Given the description of an element on the screen output the (x, y) to click on. 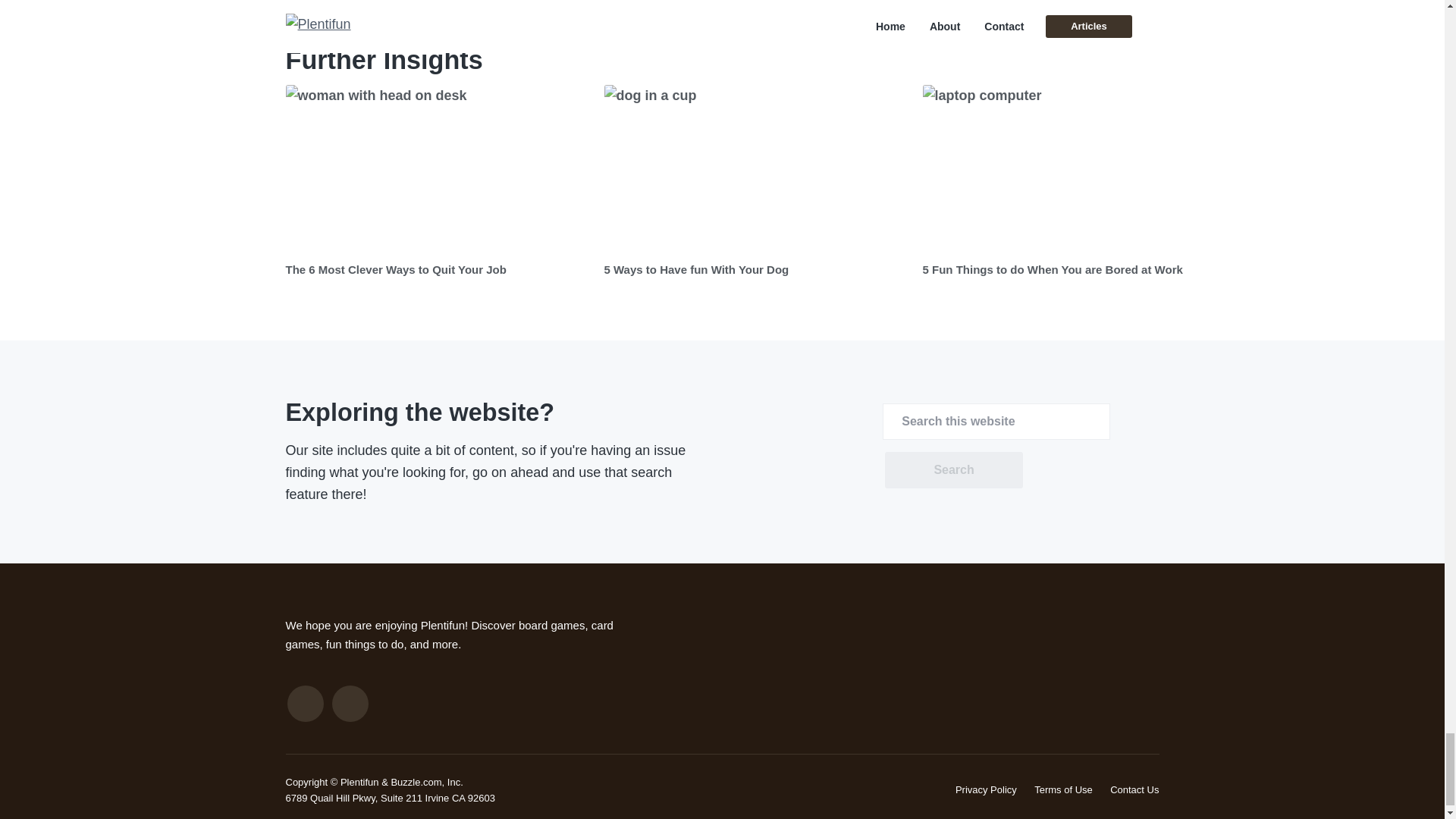
Search (953, 470)
Permanent Link to 5 Ways to Have fun With Your Dog (755, 169)
Permanent Link to 5 Ways to Have fun With Your Dog (696, 269)
Permanent Link to The 6 Most Clever Ways to Quit Your Job (395, 269)
5 Ways to Have fun With Your Dog (696, 269)
Permanent Link to The 6 Most Clever Ways to Quit Your Job (436, 169)
5 Fun Things to do When You are Bored at Work (1051, 269)
The 6 Most Clever Ways to Quit Your Job (395, 269)
